Given the description of an element on the screen output the (x, y) to click on. 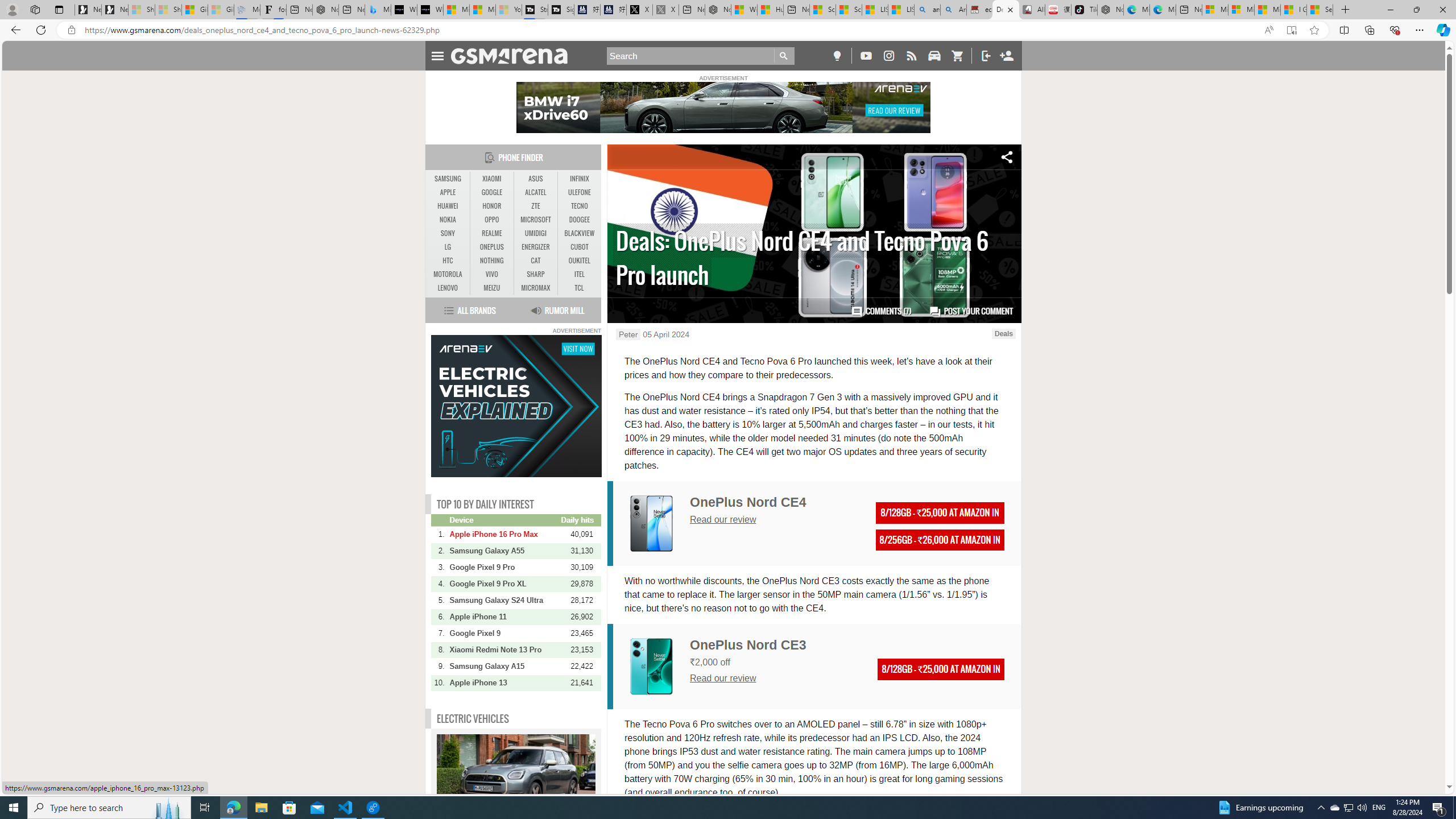
I Gained 20 Pounds of Muscle in 30 Days! | Watch (1293, 9)
INFINIX (579, 178)
Peter (627, 333)
Xiaomi Redmi Note 13 Pro (504, 649)
XIAOMI (491, 178)
Google Pixel 9 Pro (504, 566)
MICROSOFT (535, 219)
OPPO (491, 219)
